Given the description of an element on the screen output the (x, y) to click on. 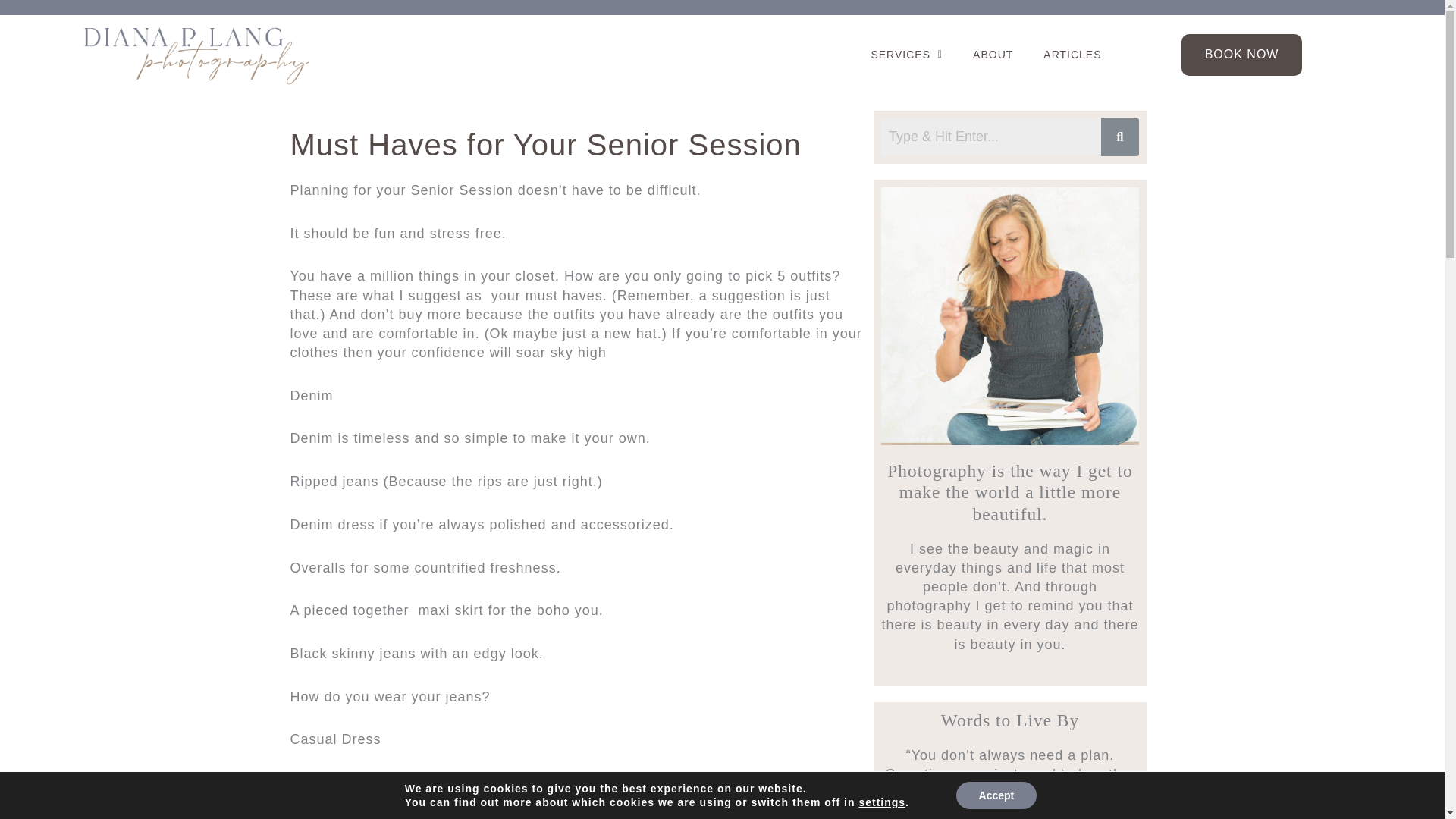
ABOUT (992, 54)
SERVICES (907, 54)
ARTICLES (1071, 54)
Search (990, 136)
BOOK NOW (1240, 55)
